Given the description of an element on the screen output the (x, y) to click on. 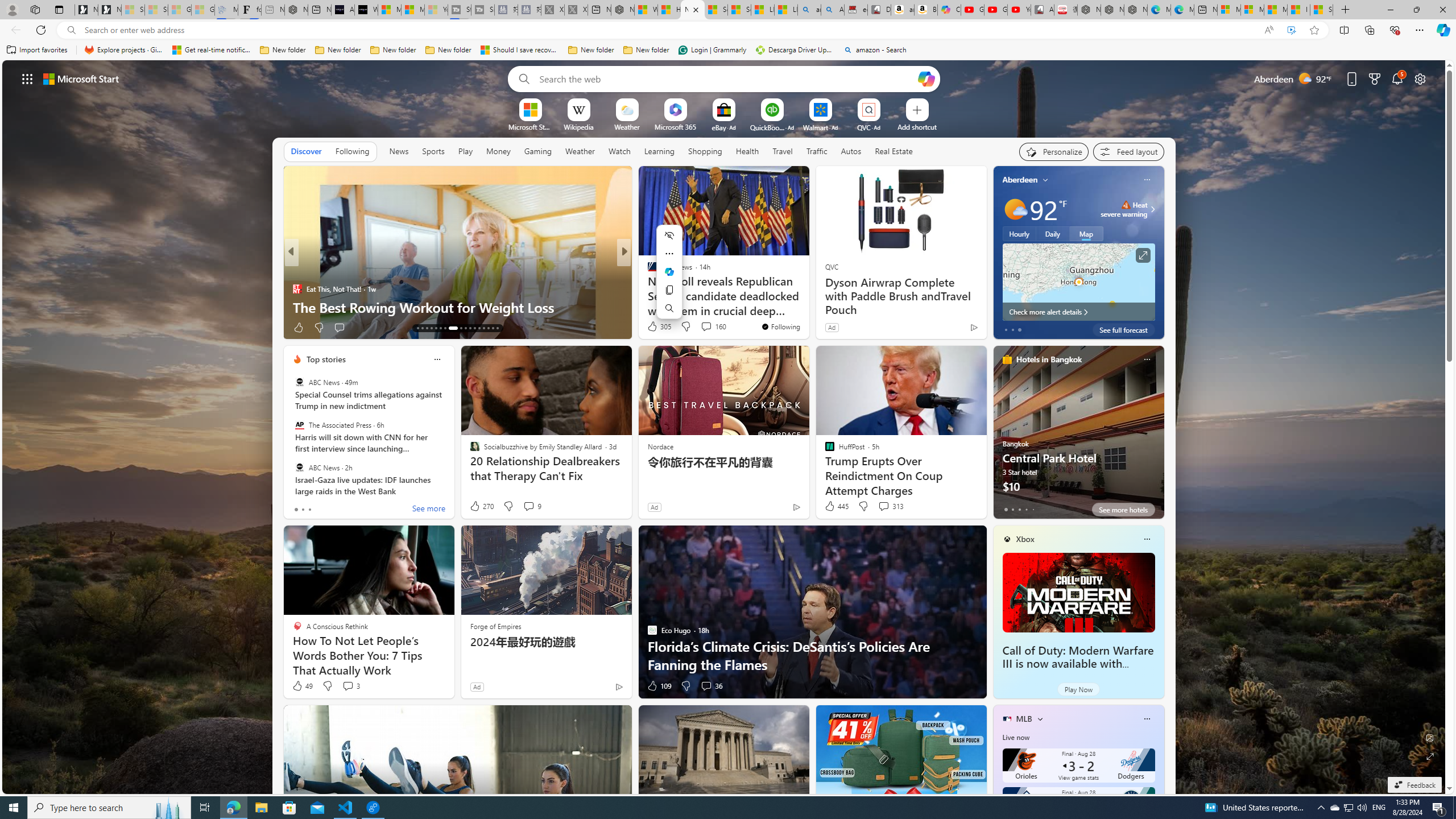
AutomationID: tab-23 (470, 328)
Top stories (325, 359)
Add a site (916, 126)
View comments 36 Comment (705, 685)
5 tips for using a TV as a PC monitor (807, 307)
Aberdeen (1019, 179)
View comments 61 Comment (6, 327)
View comments 5 Comment (698, 327)
Reuters (647, 270)
Open Copilot (925, 78)
Class: icon-img (1146, 718)
